Given the description of an element on the screen output the (x, y) to click on. 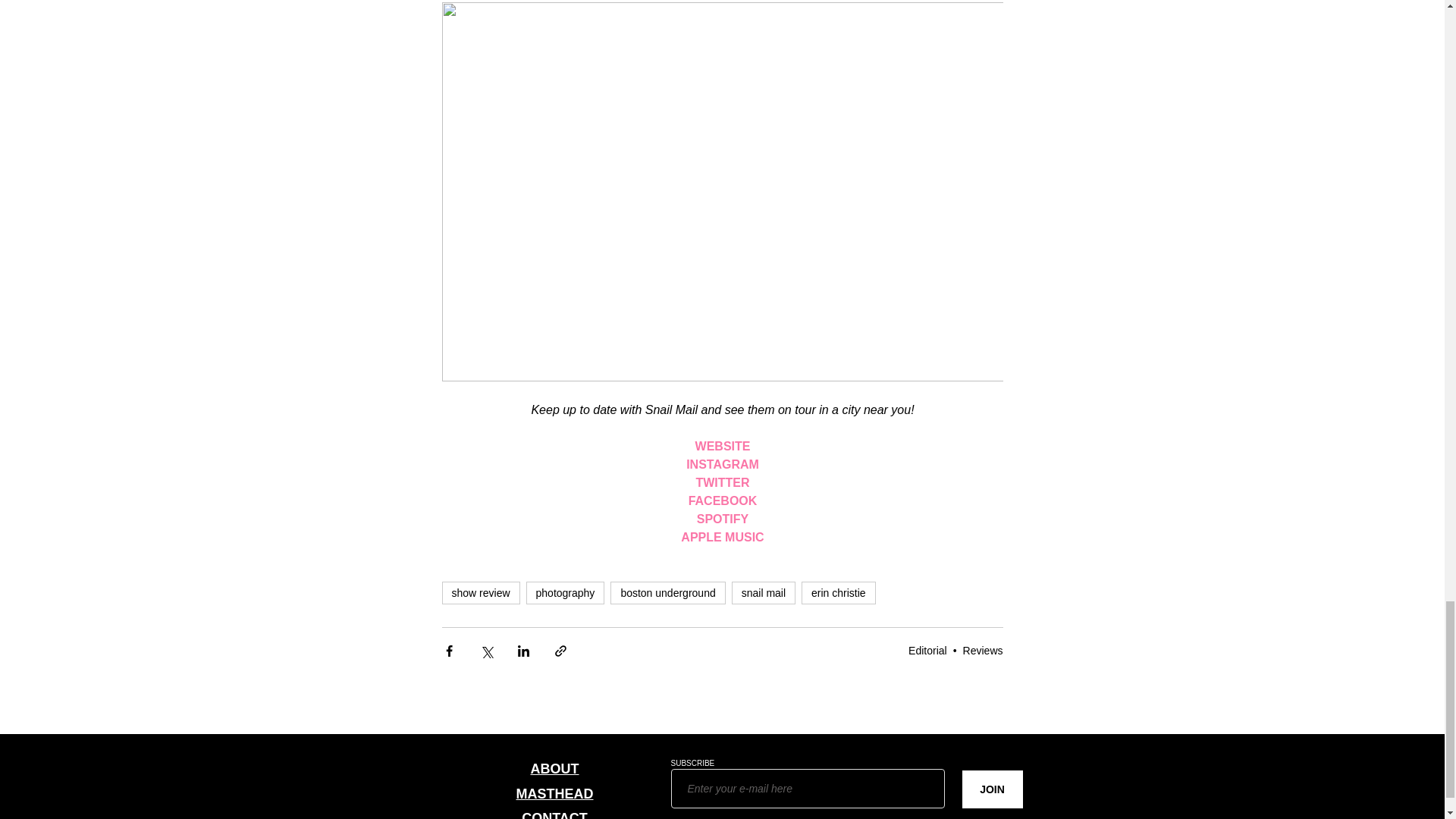
photography (565, 592)
snail mail (763, 592)
Editorial (927, 650)
erin christie (839, 592)
MASTHEAD (553, 793)
JOIN (991, 789)
CONTACT (554, 814)
show review (480, 592)
boston underground (667, 592)
Reviews (982, 650)
